Given the description of an element on the screen output the (x, y) to click on. 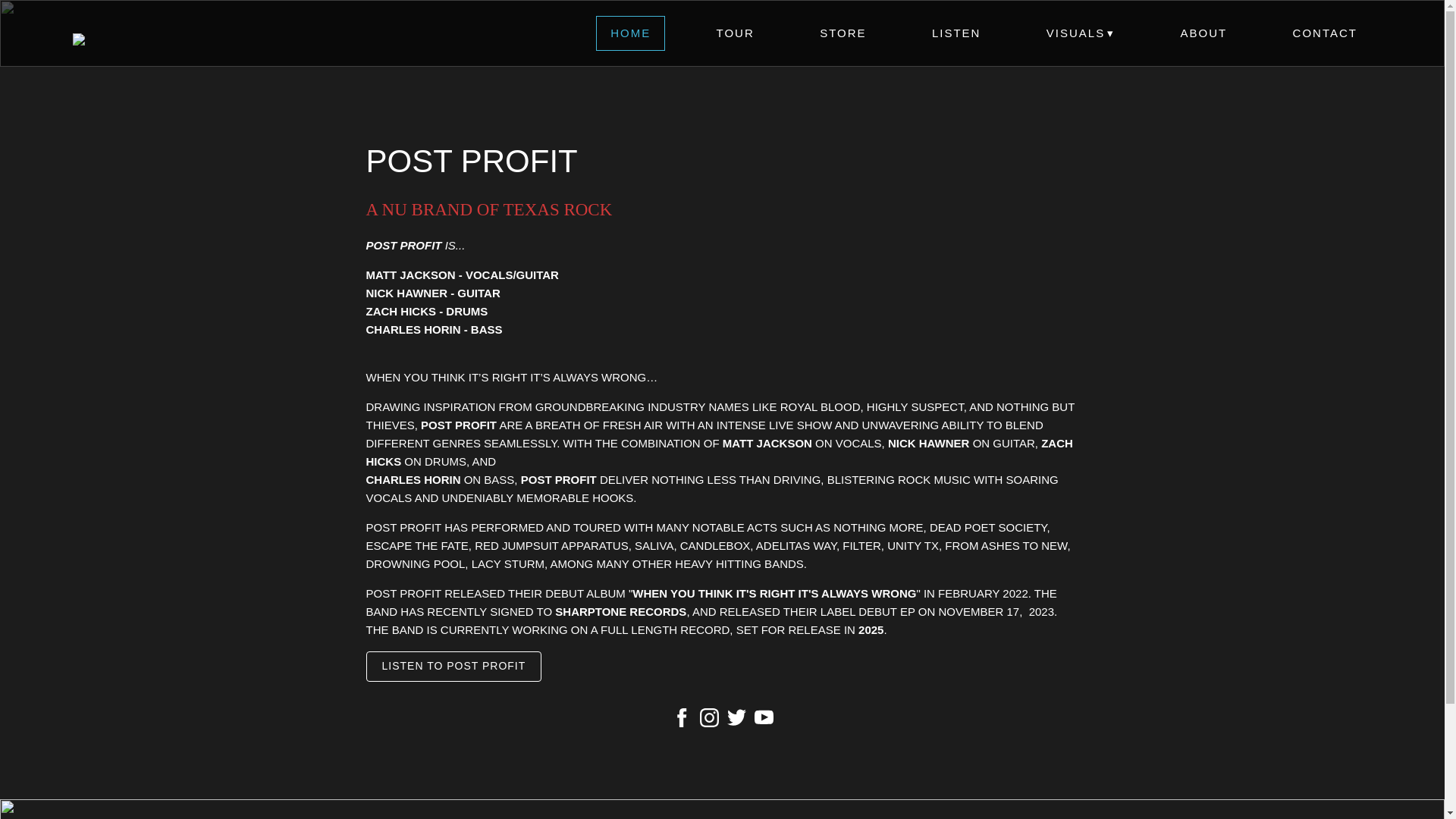
VISUALS (1080, 32)
LISTEN (956, 32)
LISTEN TO POST PROFIT (453, 666)
STORE (842, 32)
ABOUT (1203, 32)
CONTACT (1324, 32)
TOUR (734, 32)
HOME (630, 32)
